Given the description of an element on the screen output the (x, y) to click on. 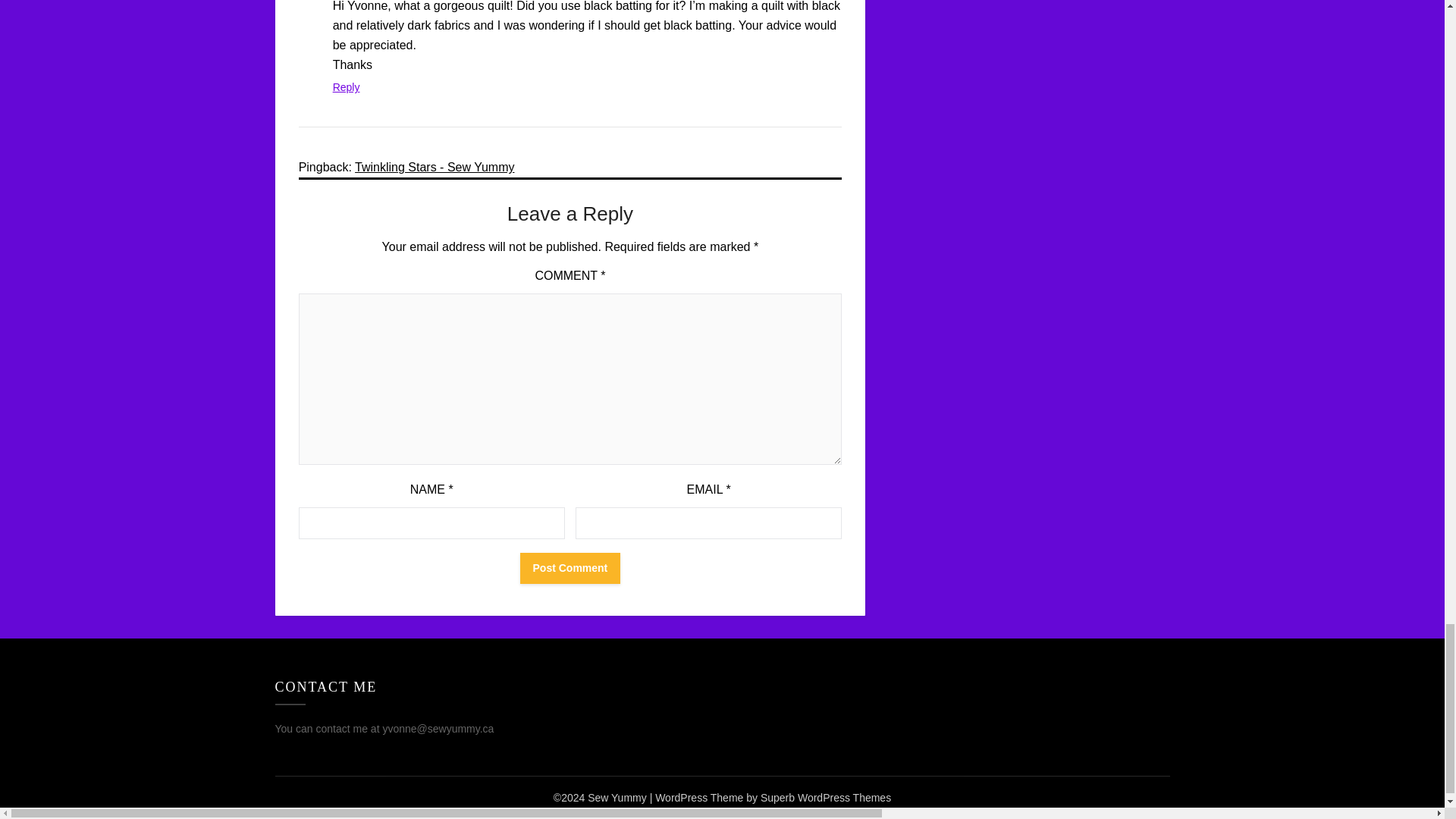
Post Comment (570, 567)
Reply (346, 87)
Twinkling Stars - Sew Yummy (434, 166)
Post Comment (570, 567)
